Given the description of an element on the screen output the (x, y) to click on. 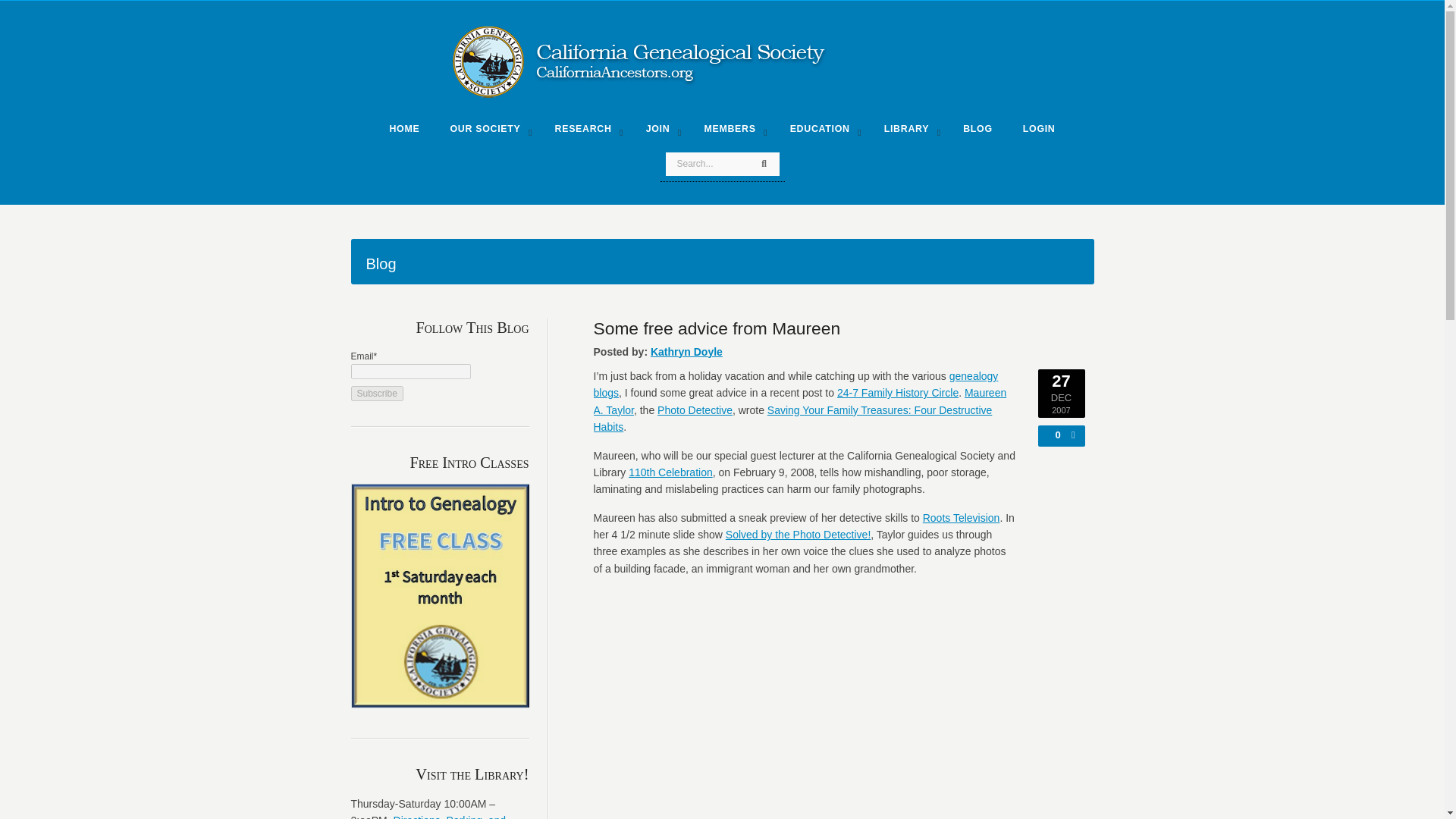
MEMBERS (731, 132)
JOIN (659, 132)
Posts by Kathryn Doyle (686, 351)
RESEARCH (585, 132)
Subscribe (376, 392)
EDUCATION (821, 132)
OUR SOCIETY (485, 132)
HOME (403, 132)
